Given the description of an element on the screen output the (x, y) to click on. 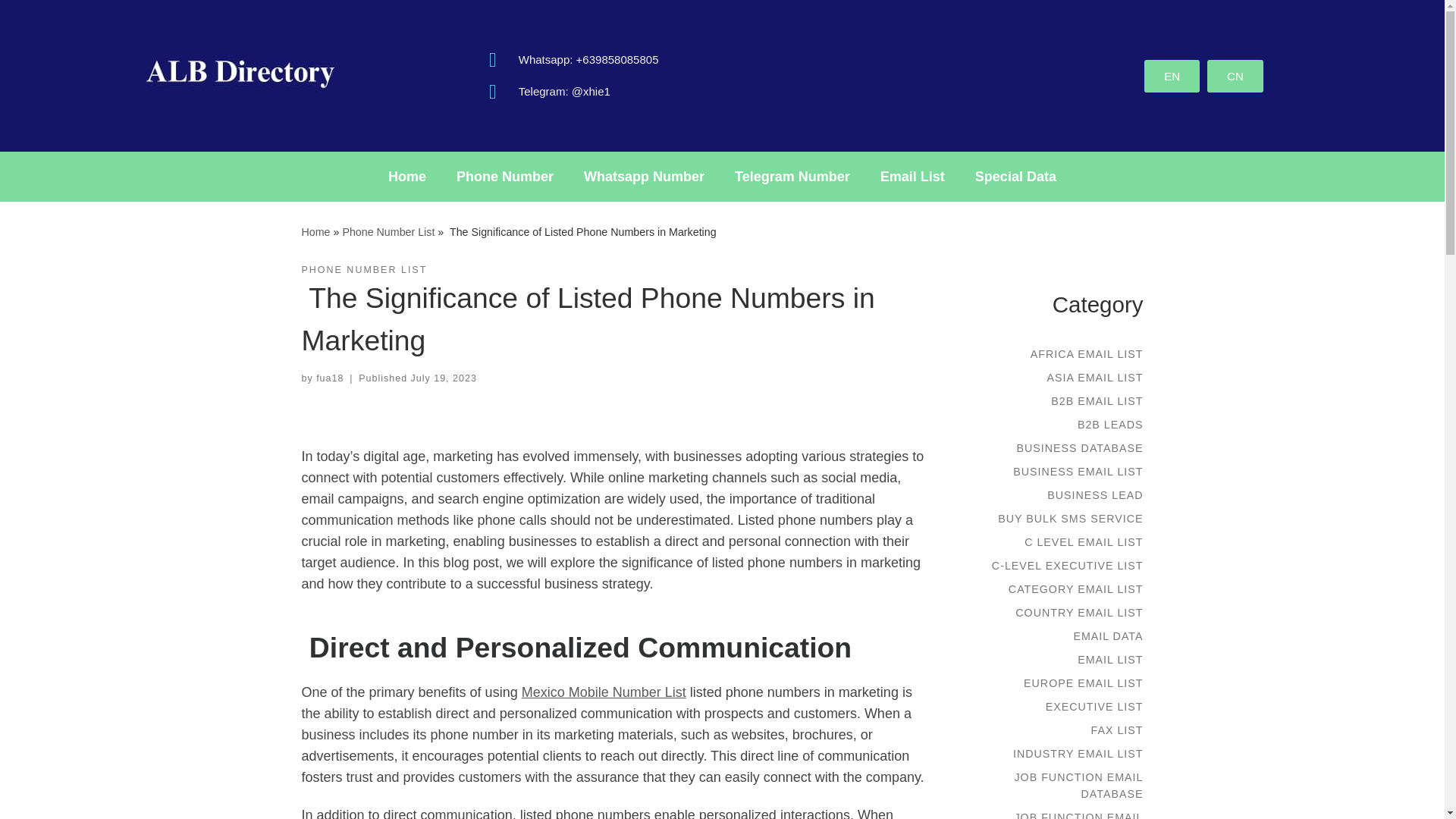
Special Data (1015, 176)
5:07 am (443, 378)
Whatsapp Number (644, 176)
Home (315, 232)
EN (1171, 74)
View all posts by fua18 (329, 378)
View all posts in Phone Number List (364, 269)
Home (406, 176)
Phone Number List (387, 232)
Phone Number (505, 176)
